Given the description of an element on the screen output the (x, y) to click on. 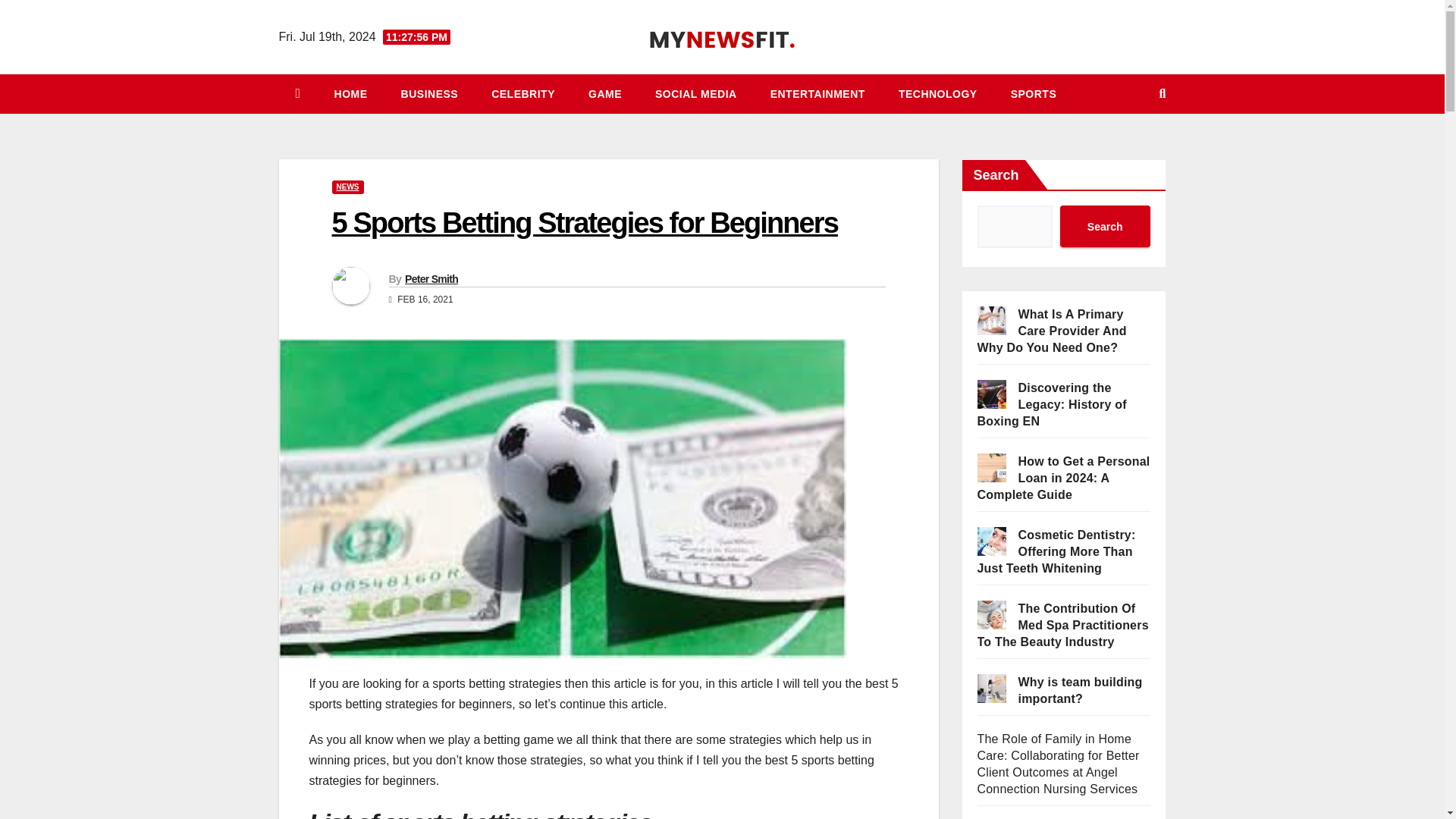
Game (605, 93)
HOME (350, 93)
Business (430, 93)
SPORTS (1034, 93)
5 Sports Betting Strategies for Beginners (584, 223)
Entertainment (818, 93)
Sports (1034, 93)
Technology (938, 93)
SOCIAL MEDIA (696, 93)
Home (350, 93)
Peter Smith (431, 278)
ENTERTAINMENT (818, 93)
TECHNOLOGY (938, 93)
Social Media (696, 93)
BUSINESS (430, 93)
